Given the description of an element on the screen output the (x, y) to click on. 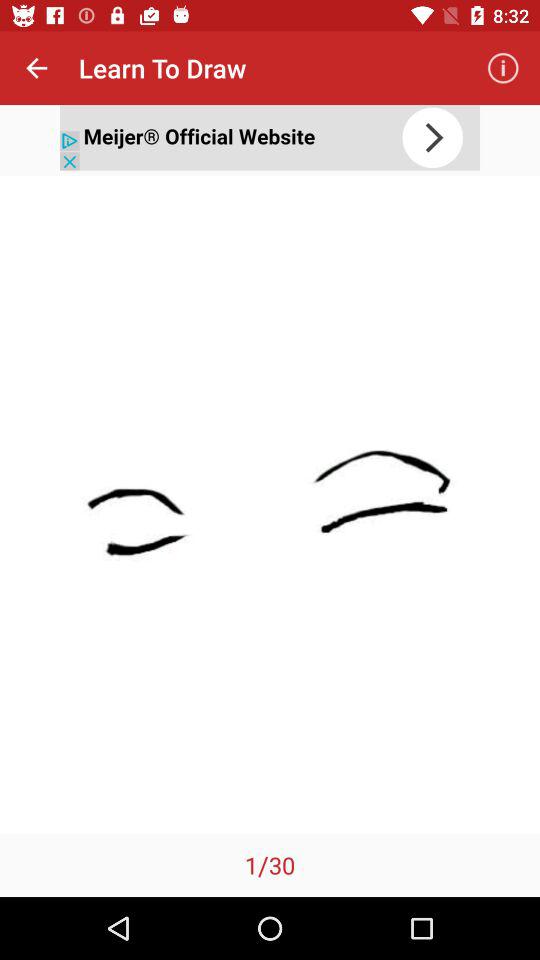
advertise an app (270, 137)
